Given the description of an element on the screen output the (x, y) to click on. 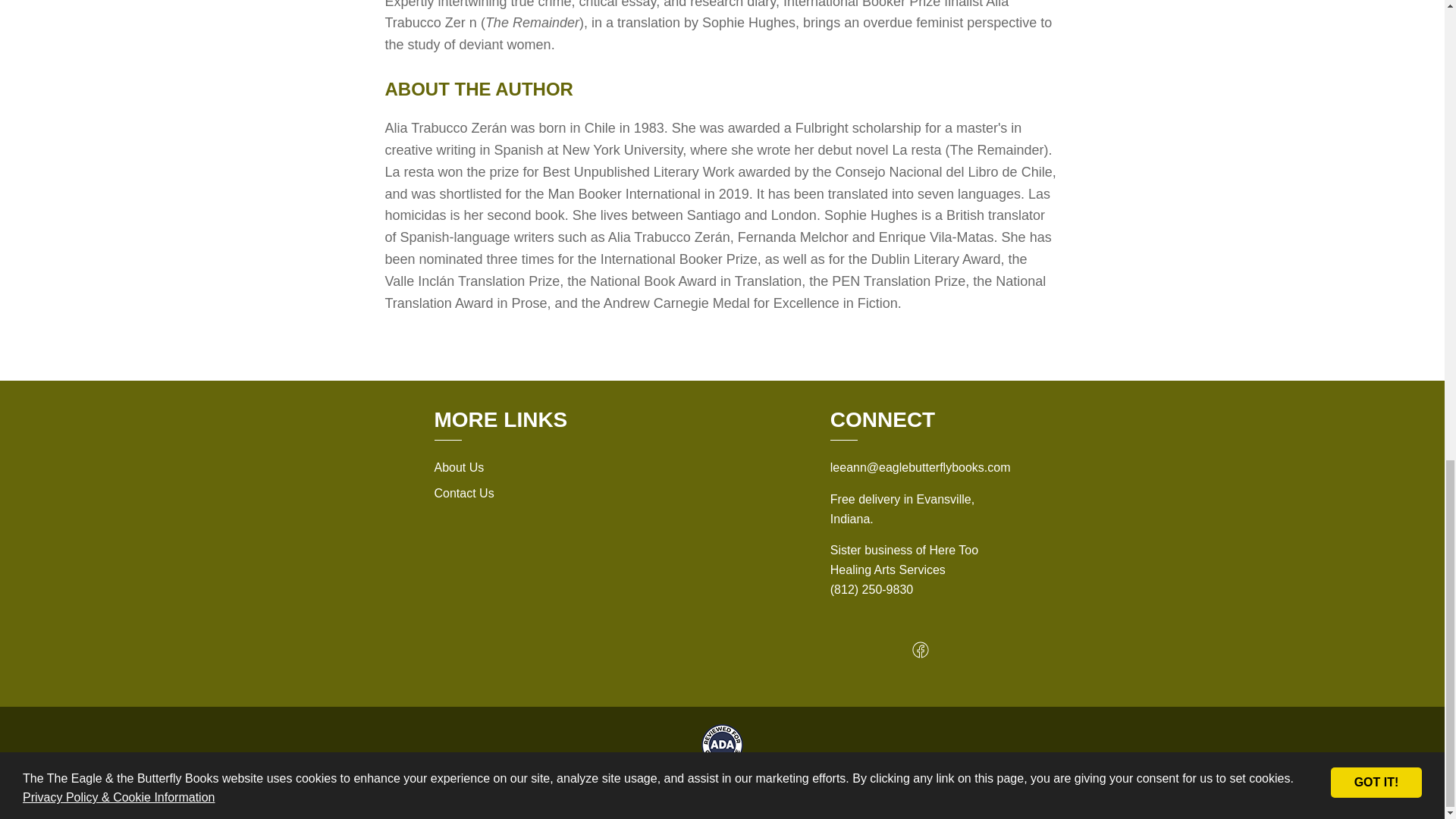
Connect with Facebook (920, 653)
Powered by IndieCommerce (834, 787)
Here Too Healing Arts Services (903, 559)
Contact Us (463, 492)
About Us (458, 467)
